Given the description of an element on the screen output the (x, y) to click on. 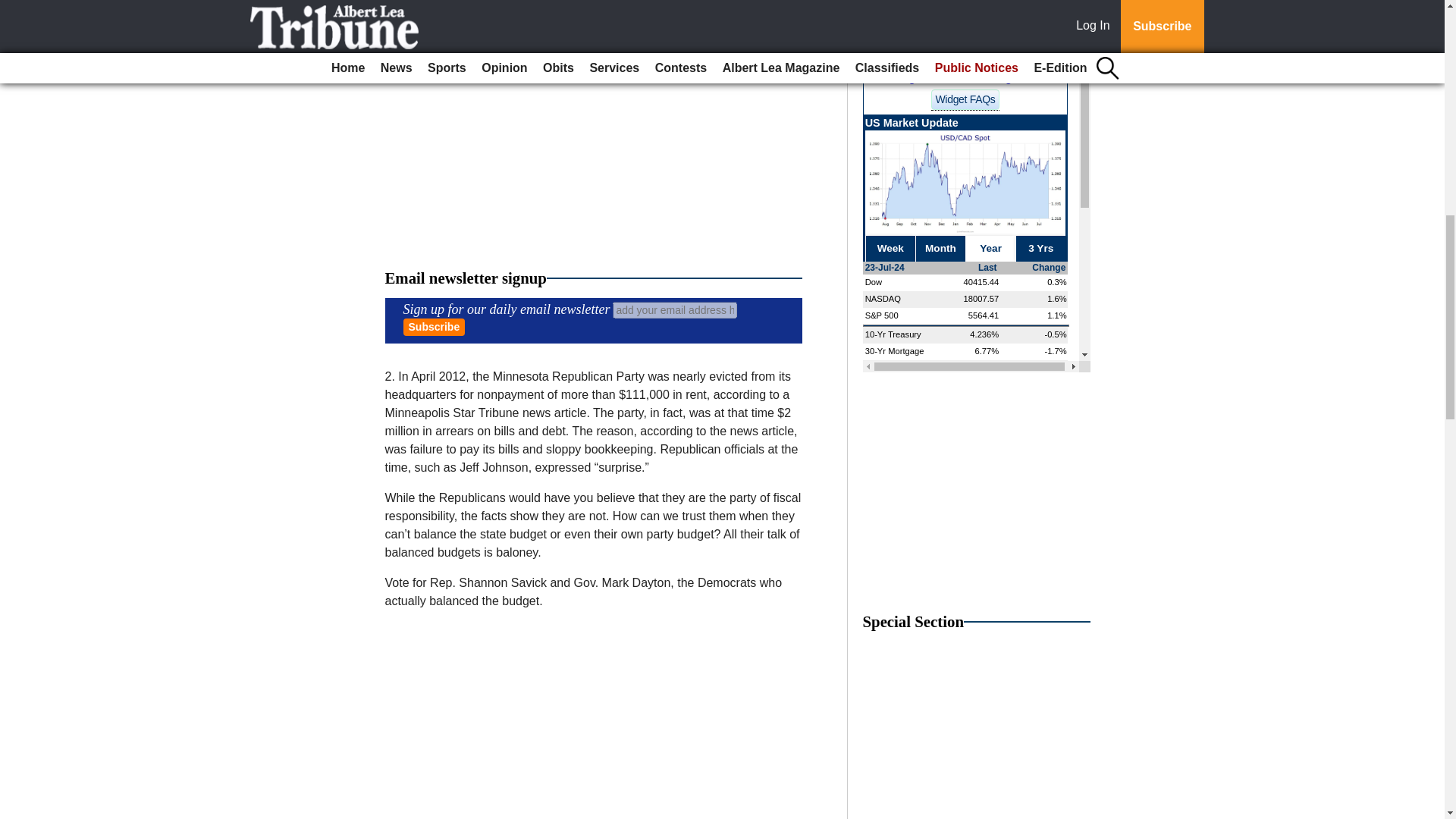
Subscribe (434, 326)
US Market Update (976, 219)
